Given the description of an element on the screen output the (x, y) to click on. 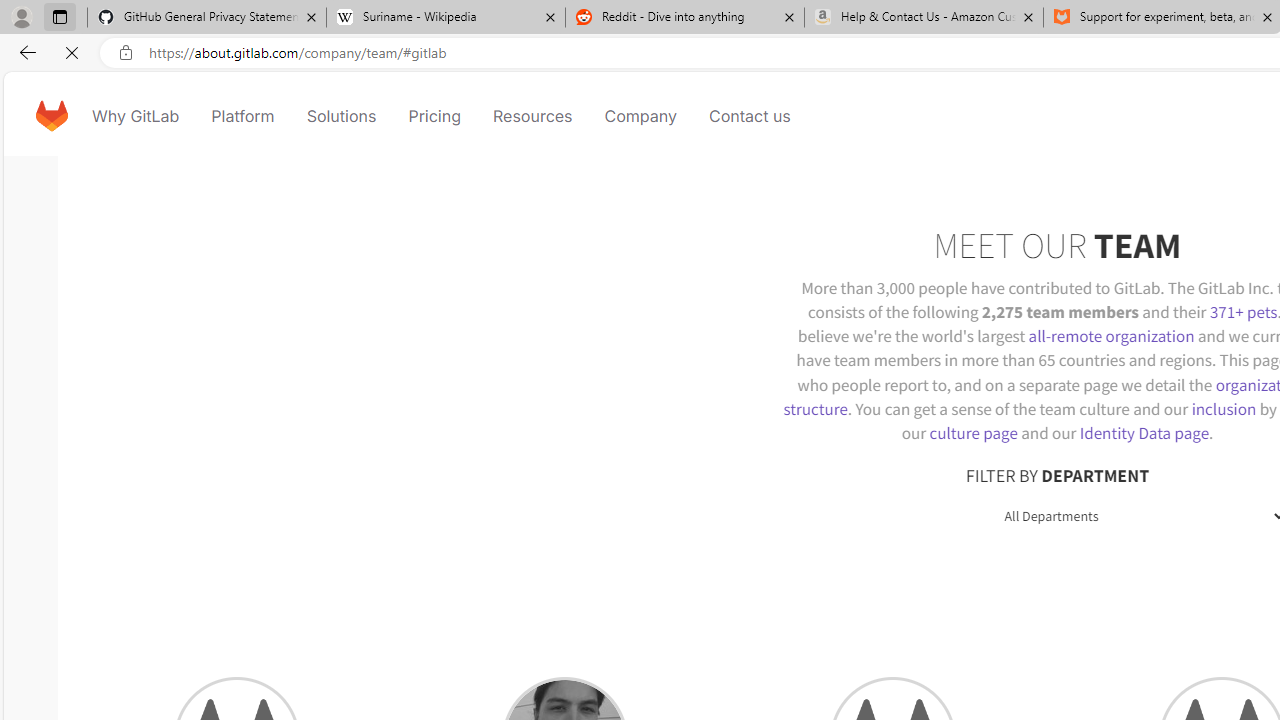
Suriname - Wikipedia (445, 17)
Platform (242, 115)
Pricing (433, 115)
Contact us (749, 115)
Solutions (341, 115)
GitHub General Privacy Statement - GitHub Docs (207, 17)
